Given the description of an element on the screen output the (x, y) to click on. 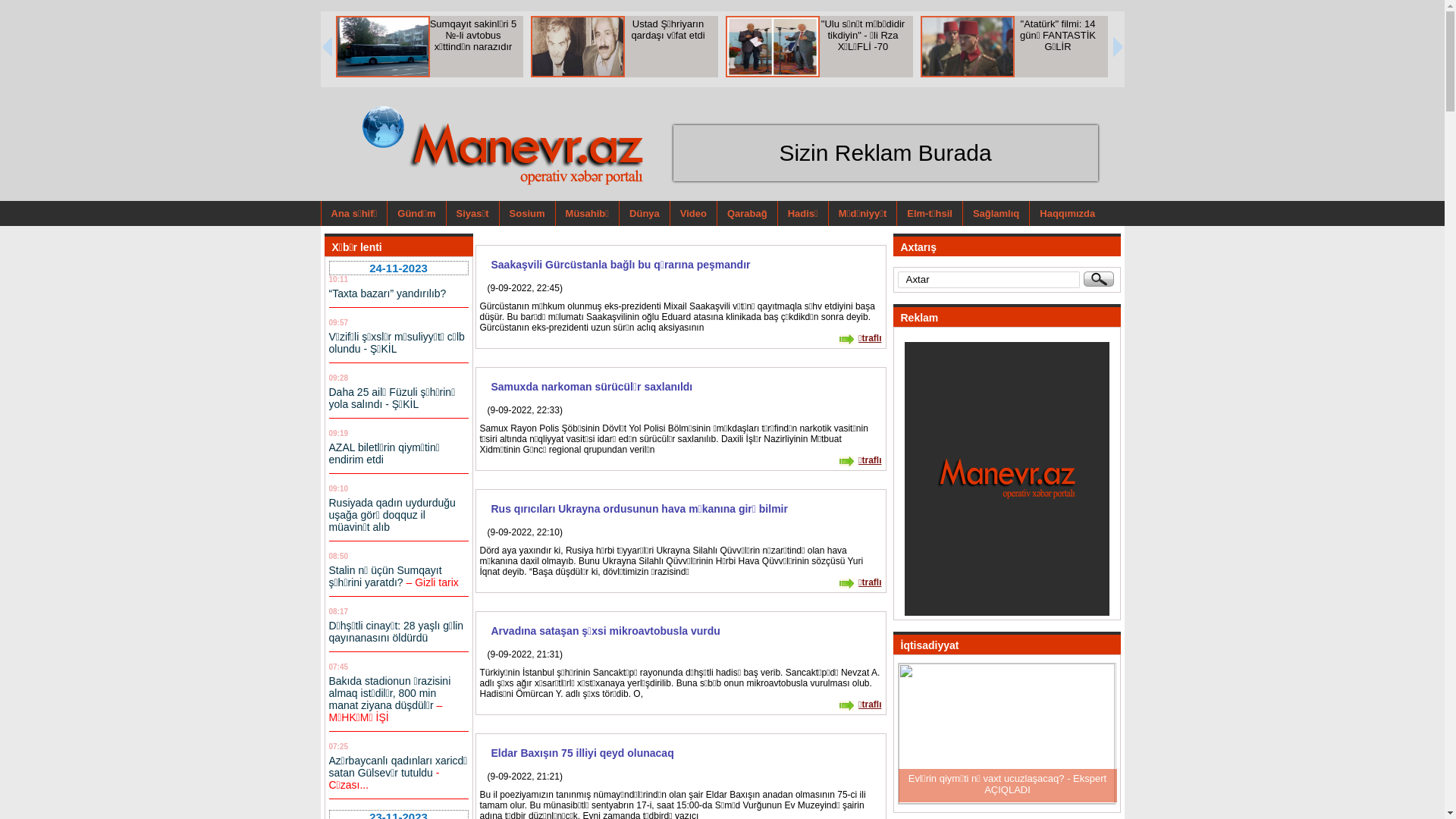
Sosium Element type: text (526, 212)
Video Element type: text (692, 212)
